Given the description of an element on the screen output the (x, y) to click on. 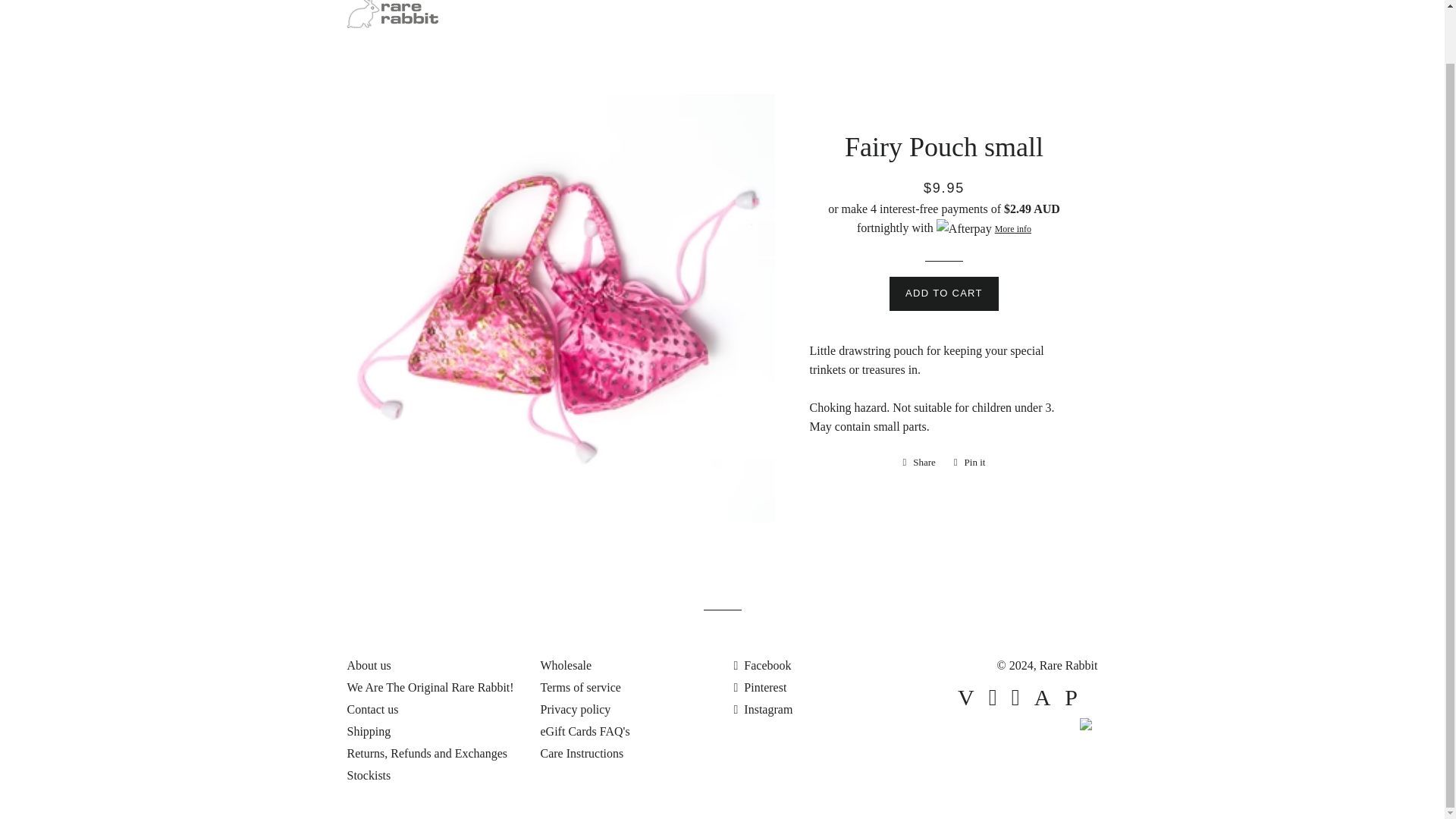
Rare Rabbit on Pinterest (760, 686)
Pin on Pinterest (969, 462)
Rare Rabbit on Instagram (763, 708)
Rare Rabbit on Facebook (762, 665)
Share on Facebook (918, 462)
